Given the description of an element on the screen output the (x, y) to click on. 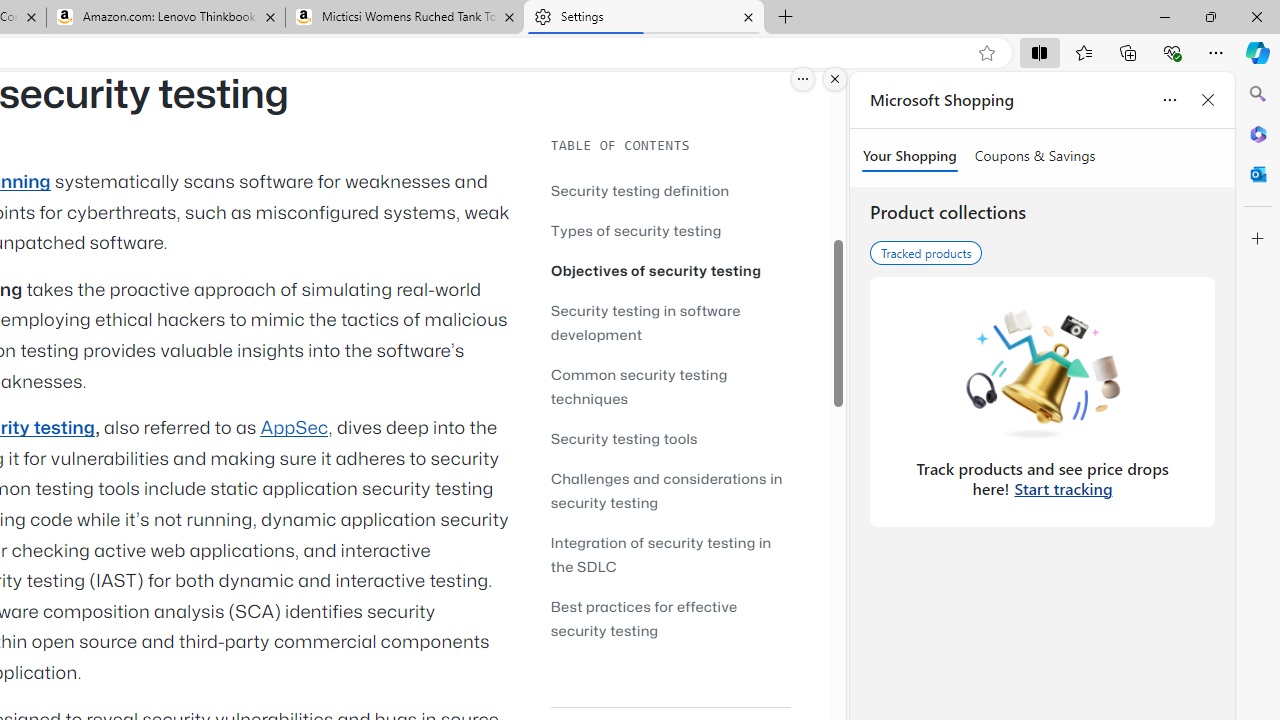
Security testing tools (670, 438)
Security testing definition (670, 190)
Integration of security testing in the SDLC (660, 554)
Security testing definition (639, 190)
Types of security testing (635, 230)
Challenges and considerations in security testing (666, 490)
Common security testing techniques (670, 386)
Objectives of security testing (655, 270)
